Given the description of an element on the screen output the (x, y) to click on. 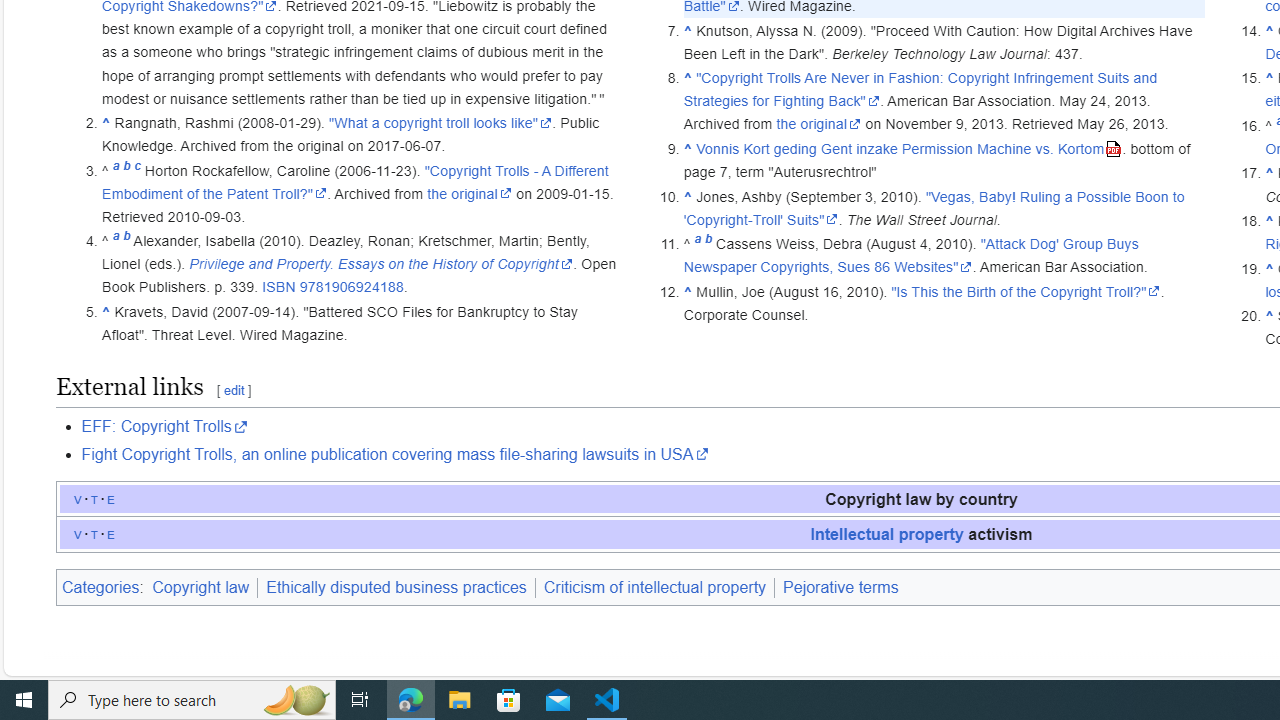
v (77, 533)
edit (233, 390)
Intellectual property (886, 533)
e (111, 533)
Copyright law (203, 587)
Vonnis Kort geding Gent inzake Permission Machine vs. Kortom (909, 147)
t (93, 533)
Privilege and Property. Essays on the History of Copyright (381, 264)
c (137, 170)
